Given the description of an element on the screen output the (x, y) to click on. 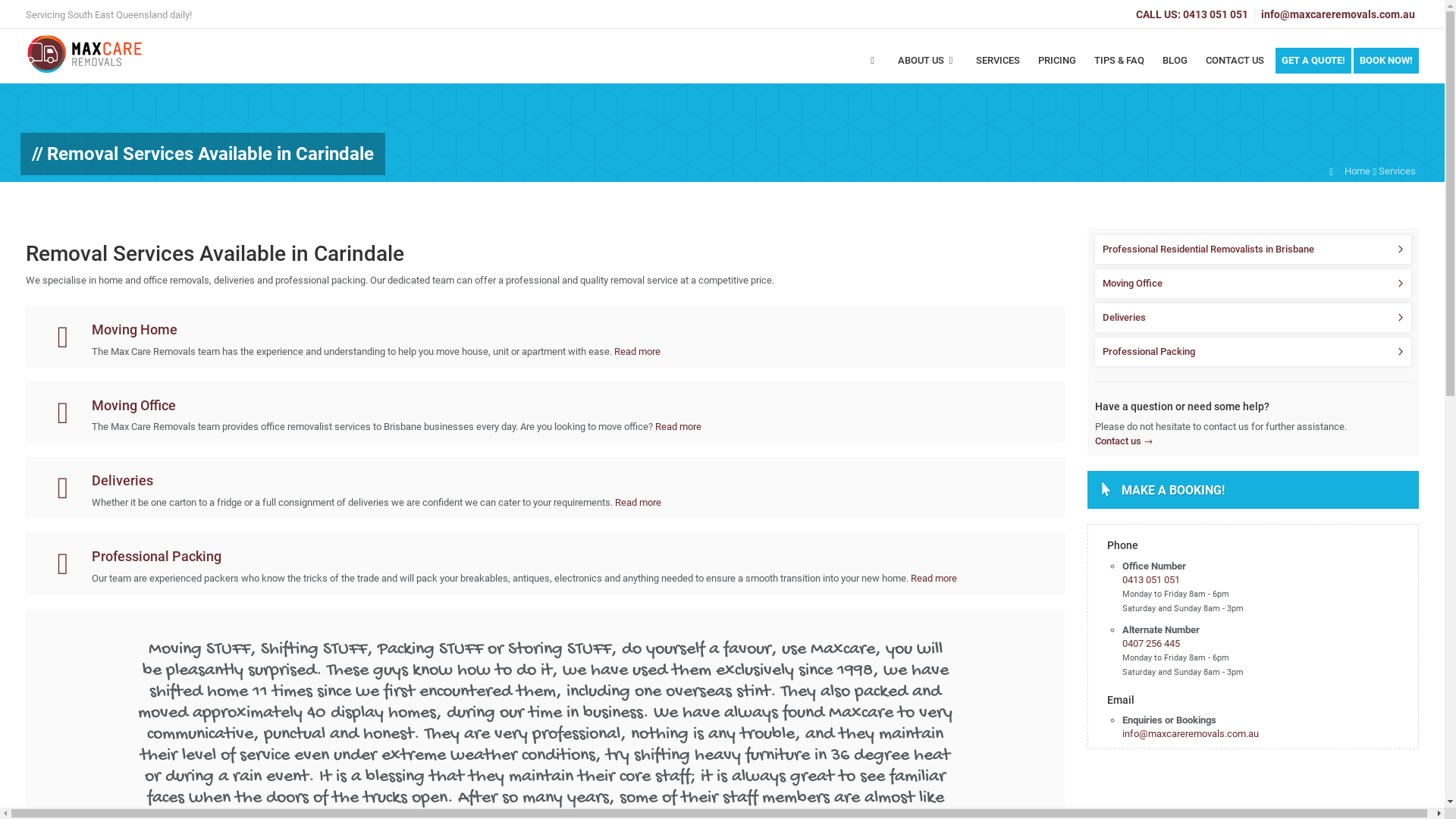
BLOG Element type: text (1174, 68)
Services Element type: text (1396, 170)
Read more Element type: text (637, 351)
0407 256 445 Element type: text (1150, 643)
Professional Packing Element type: text (1253, 351)
BOOK NOW! Element type: text (1385, 60)
Deliveries Element type: text (1253, 317)
0413 051 051 Element type: text (1215, 14)
CONTACT US Element type: text (1234, 68)
SERVICES Element type: text (997, 68)
ABOUT US Element type: text (927, 68)
Home Element type: hover (872, 68)
Read more Element type: text (638, 502)
info@maxcareremovals.com.au Element type: text (1190, 733)
Read more Element type: text (933, 577)
Read more Element type: text (678, 426)
MAKE A BOOKING! Element type: text (1252, 489)
Moving Office Element type: text (133, 405)
Professional Packing Element type: text (156, 556)
Contact us Element type: text (1124, 440)
Moving Office Element type: text (1253, 283)
0413 051 051 Element type: text (1150, 579)
Deliveries Element type: text (122, 480)
info@maxcareremovals.com.au Element type: text (1338, 14)
Home Element type: text (1357, 170)
GET A QUOTE! Element type: text (1313, 60)
Moving Home Element type: text (134, 329)
TIPS & FAQ Element type: text (1119, 68)
Professional Residential Removalists in Brisbane Element type: text (1253, 249)
PRICING Element type: text (1057, 68)
